Given the description of an element on the screen output the (x, y) to click on. 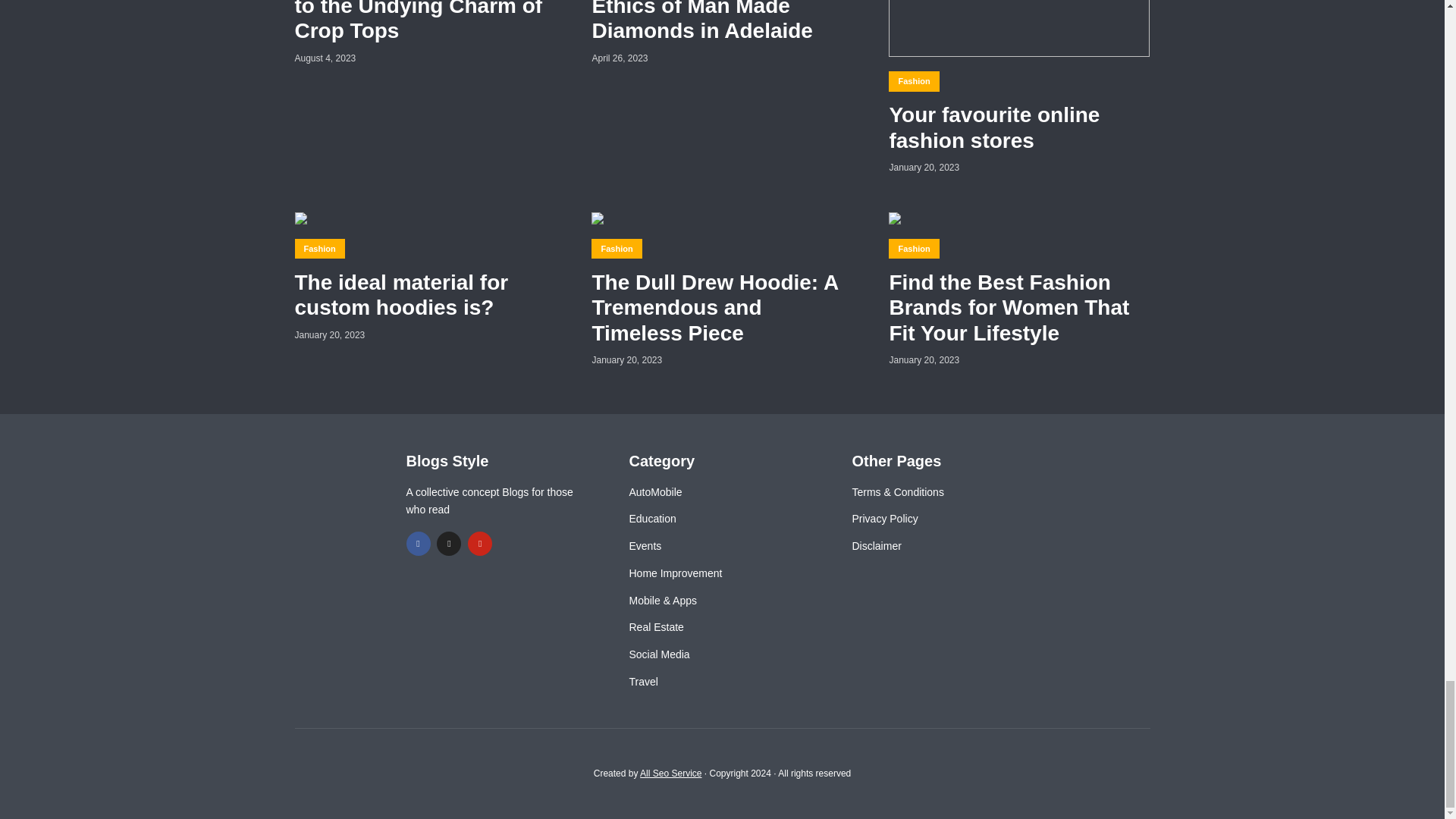
Facebook (418, 543)
Pinterest (479, 543)
